Given the description of an element on the screen output the (x, y) to click on. 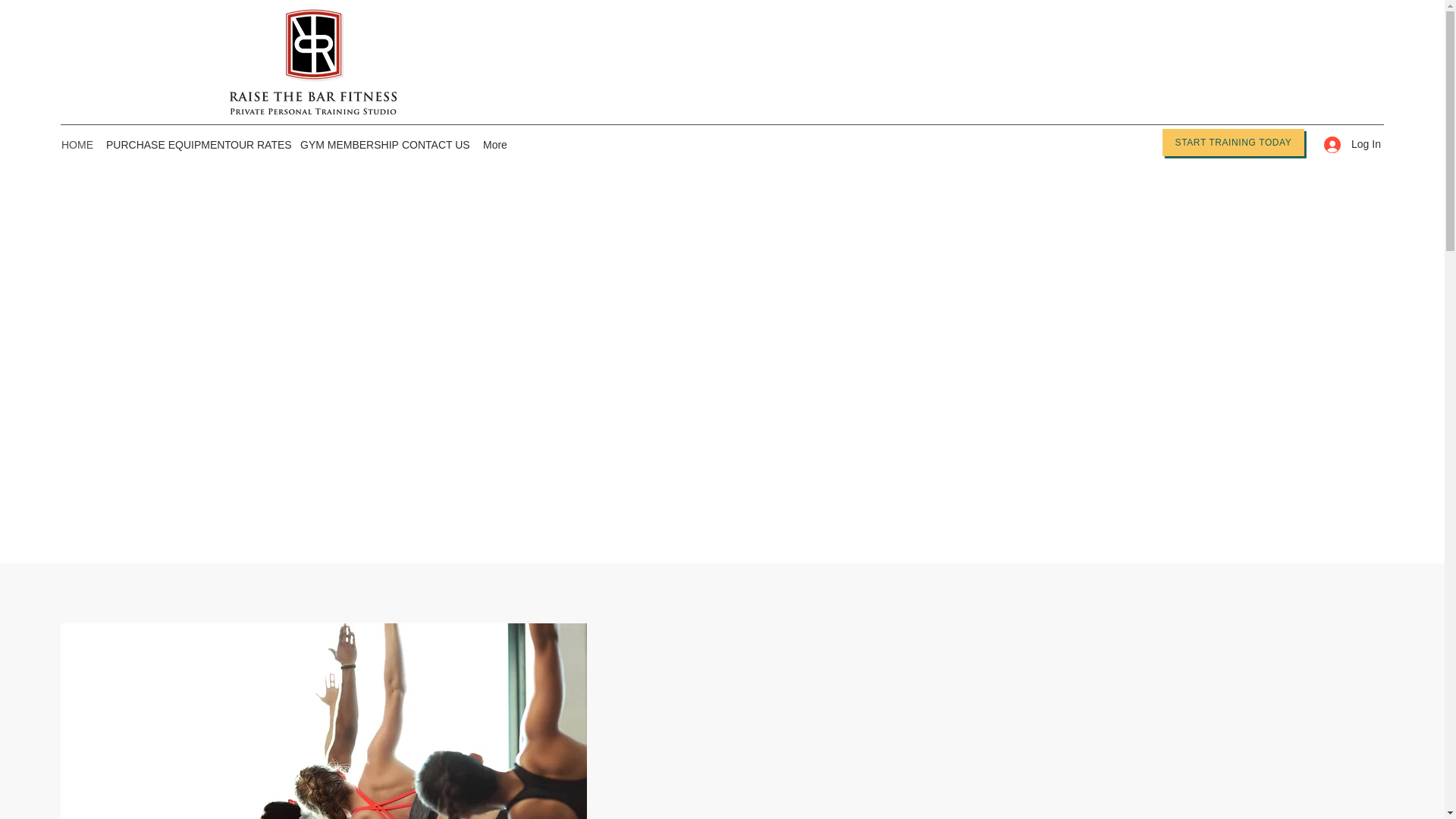
PURCHASE EQUIPMENT (160, 144)
CONTACT US (435, 144)
GYM MEMBERSHIP (343, 144)
HOME (76, 144)
START TRAINING TODAY (1232, 142)
Log In (1347, 144)
OUR RATES (257, 144)
